Given the description of an element on the screen output the (x, y) to click on. 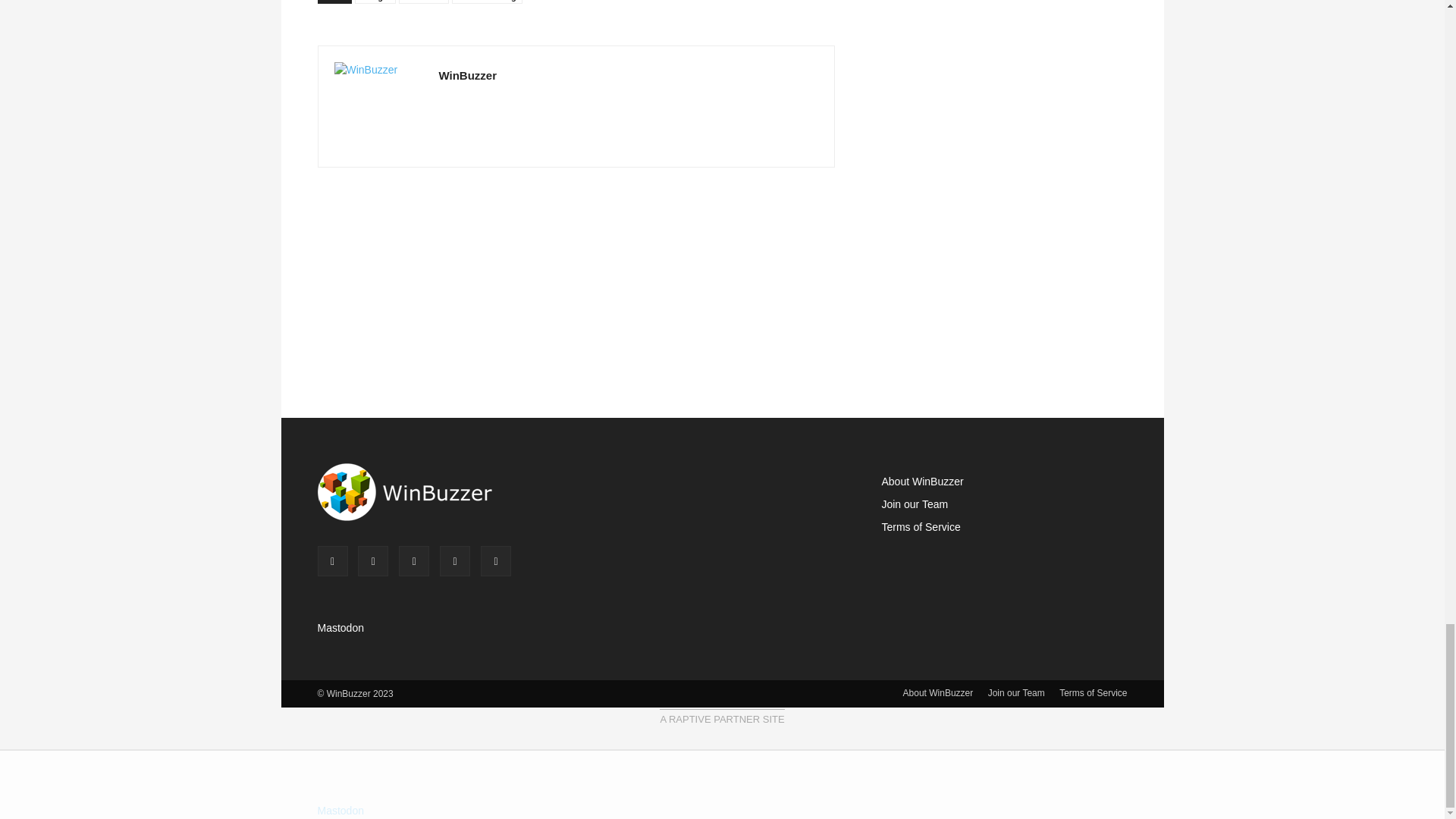
WinBuzzer (377, 106)
